Given the description of an element on the screen output the (x, y) to click on. 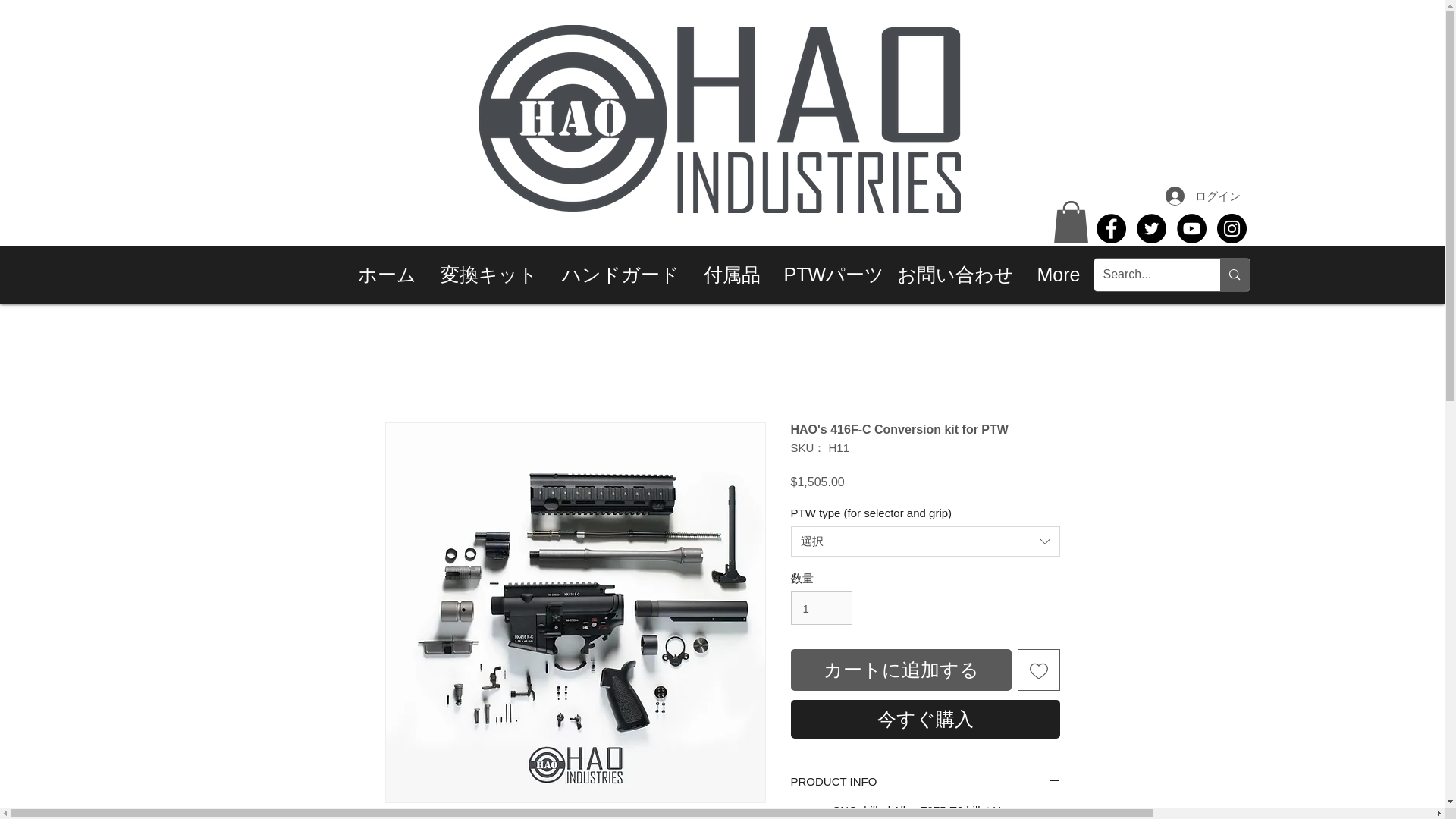
1 (820, 607)
